Given the description of an element on the screen output the (x, y) to click on. 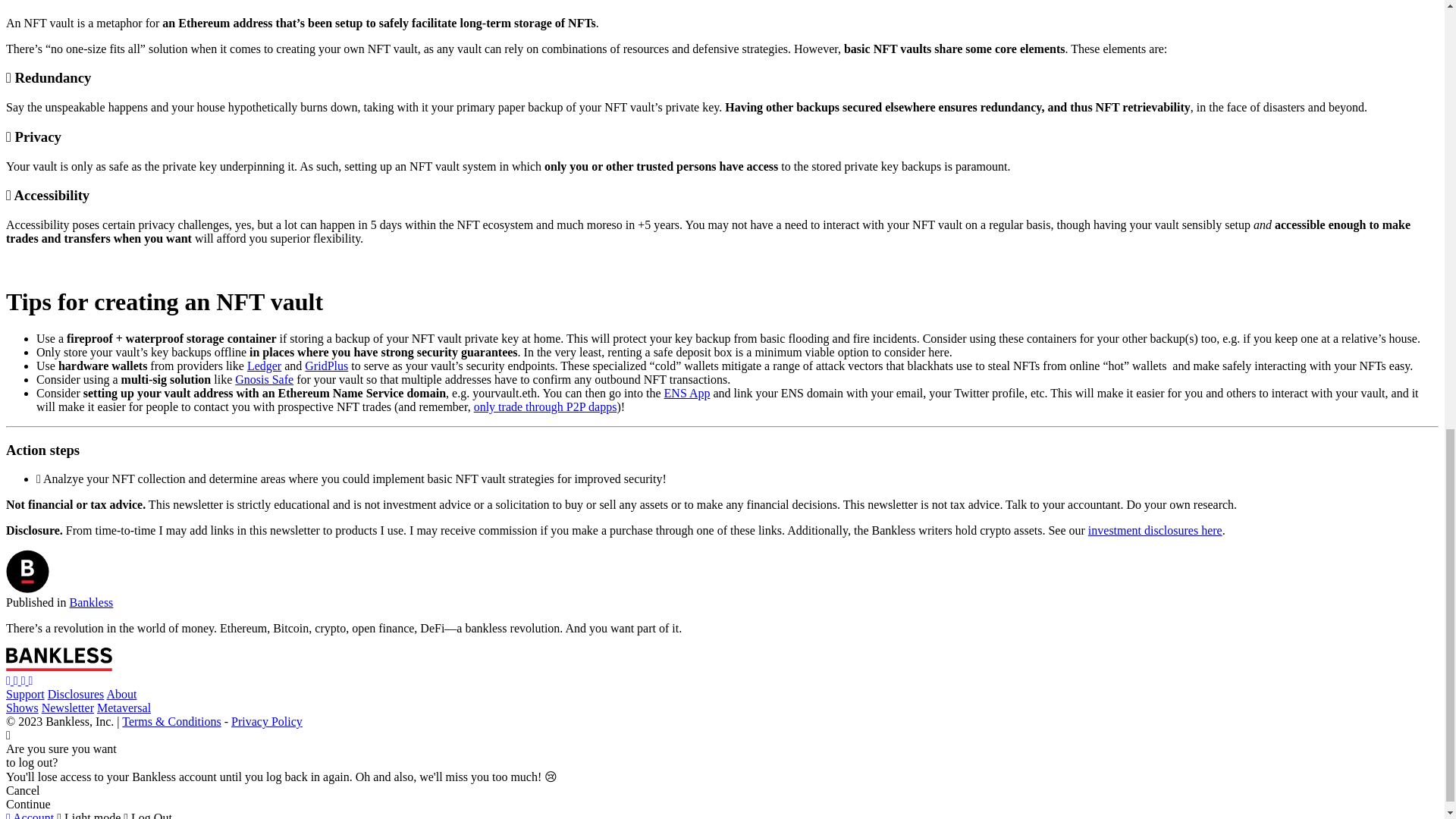
GridPlus (325, 365)
investment disclosures here (1155, 530)
Shows (22, 707)
Metaversal (124, 707)
Disclosures (76, 694)
Gnosis Safe (264, 379)
Support (25, 694)
only trade through P2P dapps (545, 406)
ENS App (686, 392)
Newsletter (68, 707)
Privacy Policy (266, 721)
Bankless (91, 602)
Ledger (264, 365)
About (121, 694)
